Given the description of an element on the screen output the (x, y) to click on. 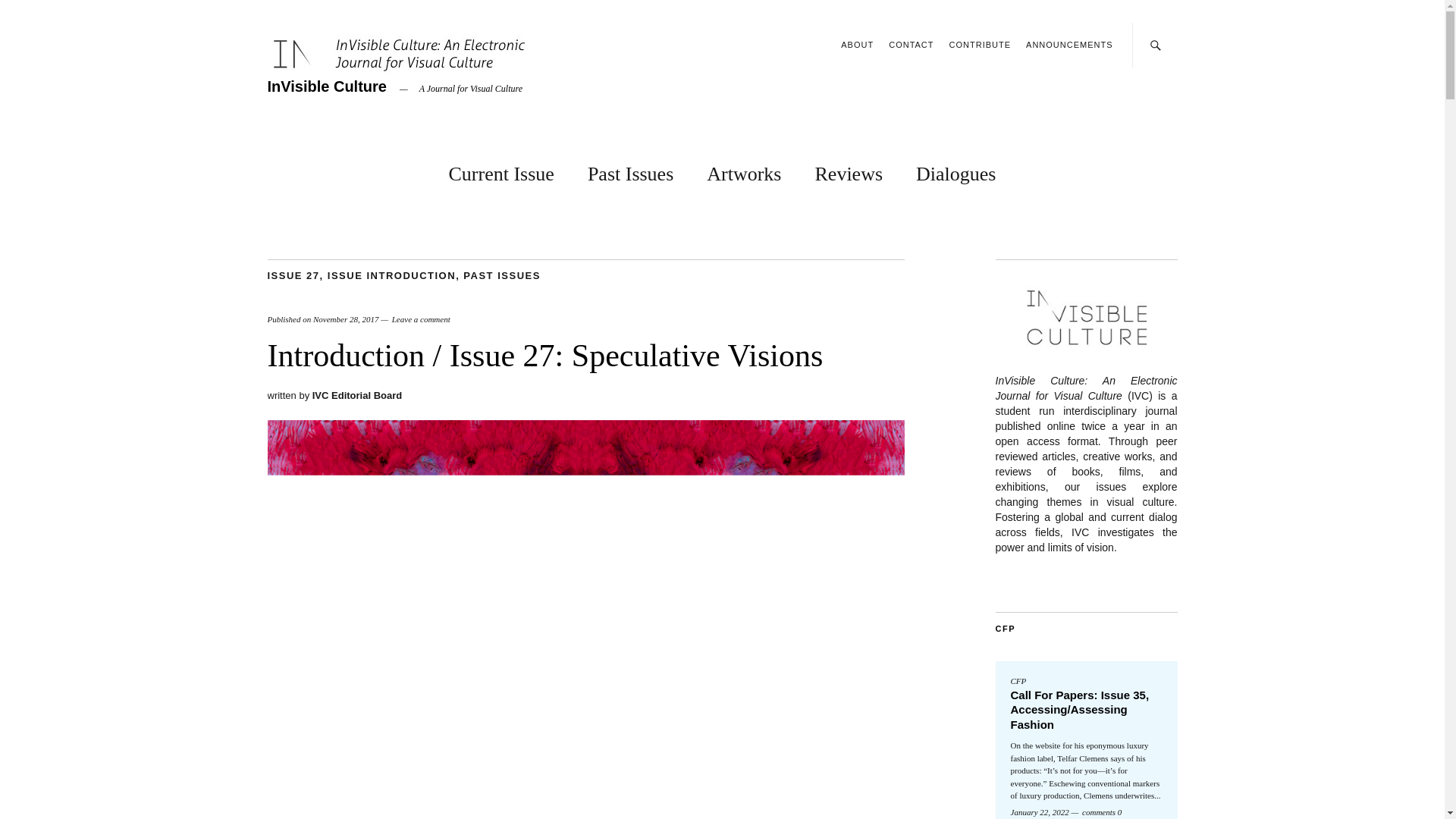
November 28, 2017 (345, 318)
ABOUT (857, 44)
All posts by IVC Editorial Board (357, 395)
Artworks (743, 171)
ISSUE INTRODUCTION (391, 275)
IVC Editorial Board (357, 395)
Current Issue (501, 171)
ANNOUNCEMENTS (1069, 44)
Past Issues (630, 171)
Reviews (847, 171)
